Given the description of an element on the screen output the (x, y) to click on. 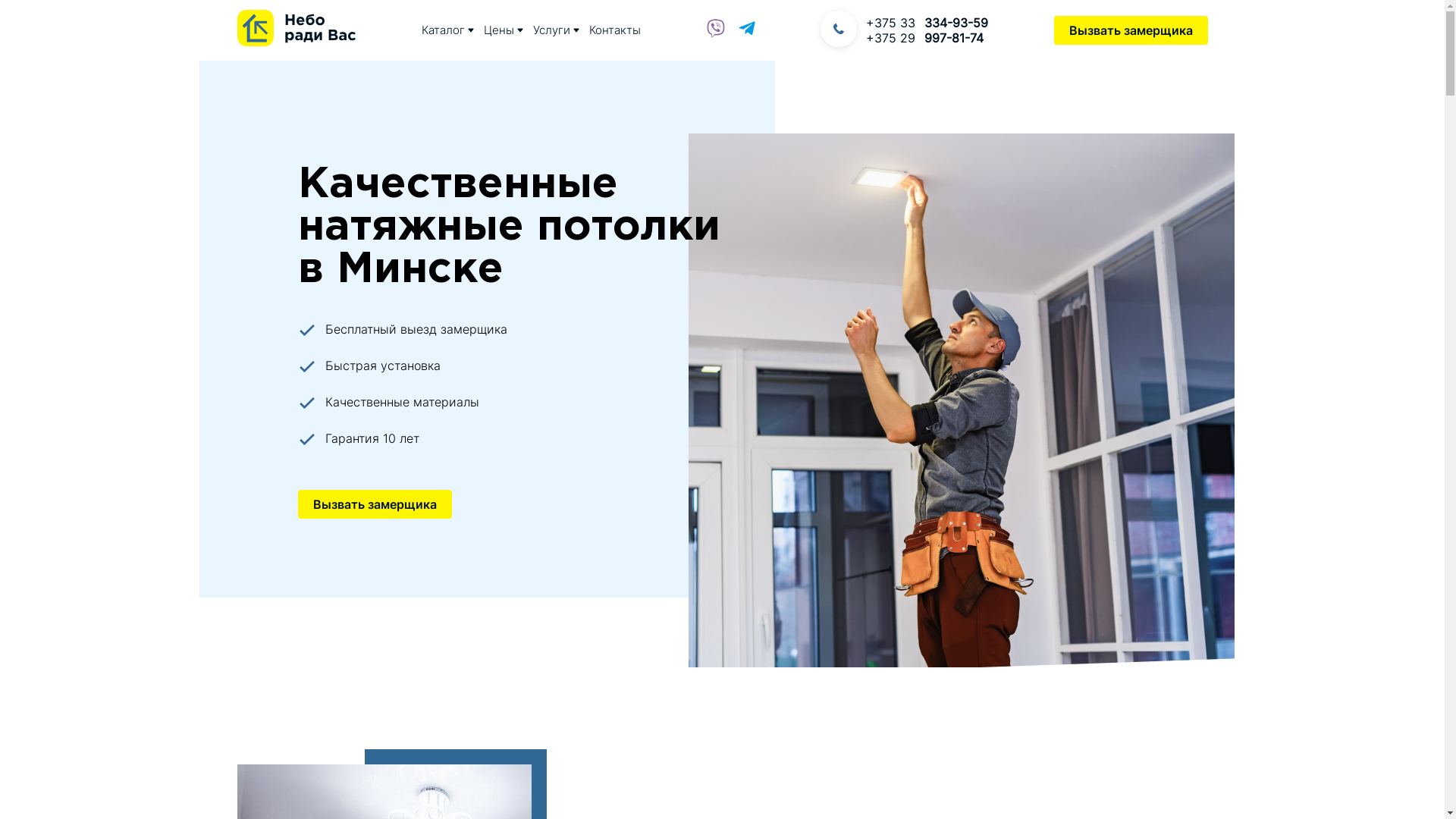
+375 29
997-81-74 Element type: text (927, 37)
+375 33
334-93-59 Element type: text (927, 22)
